Given the description of an element on the screen output the (x, y) to click on. 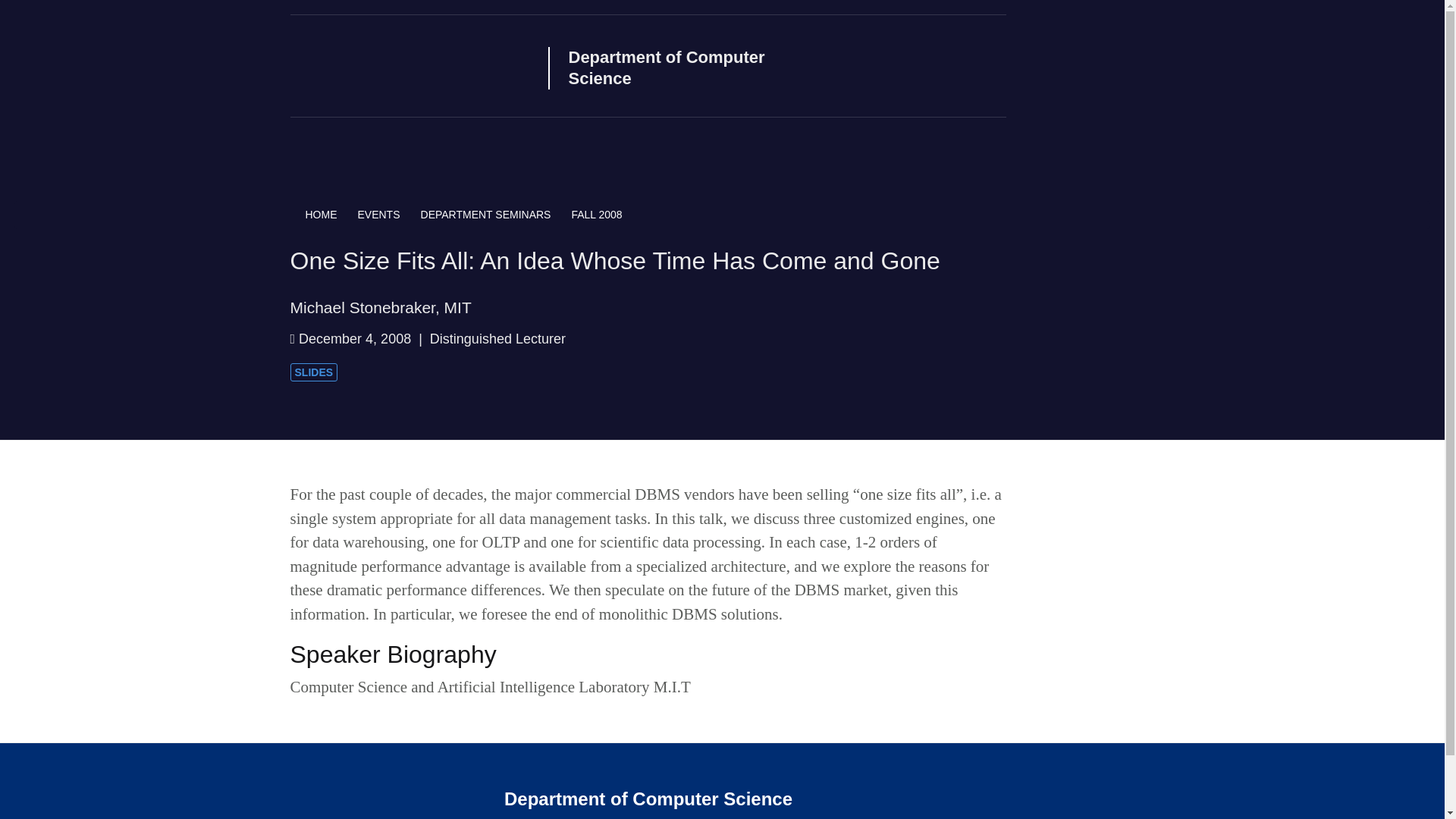
Department of Computer Science (695, 67)
FALL 2008 (595, 214)
EVENTS (389, 214)
SLIDES (313, 372)
HOME (322, 214)
DEPARTMENT SEMINARS (496, 214)
Department of Computer Science (408, 63)
